Given the description of an element on the screen output the (x, y) to click on. 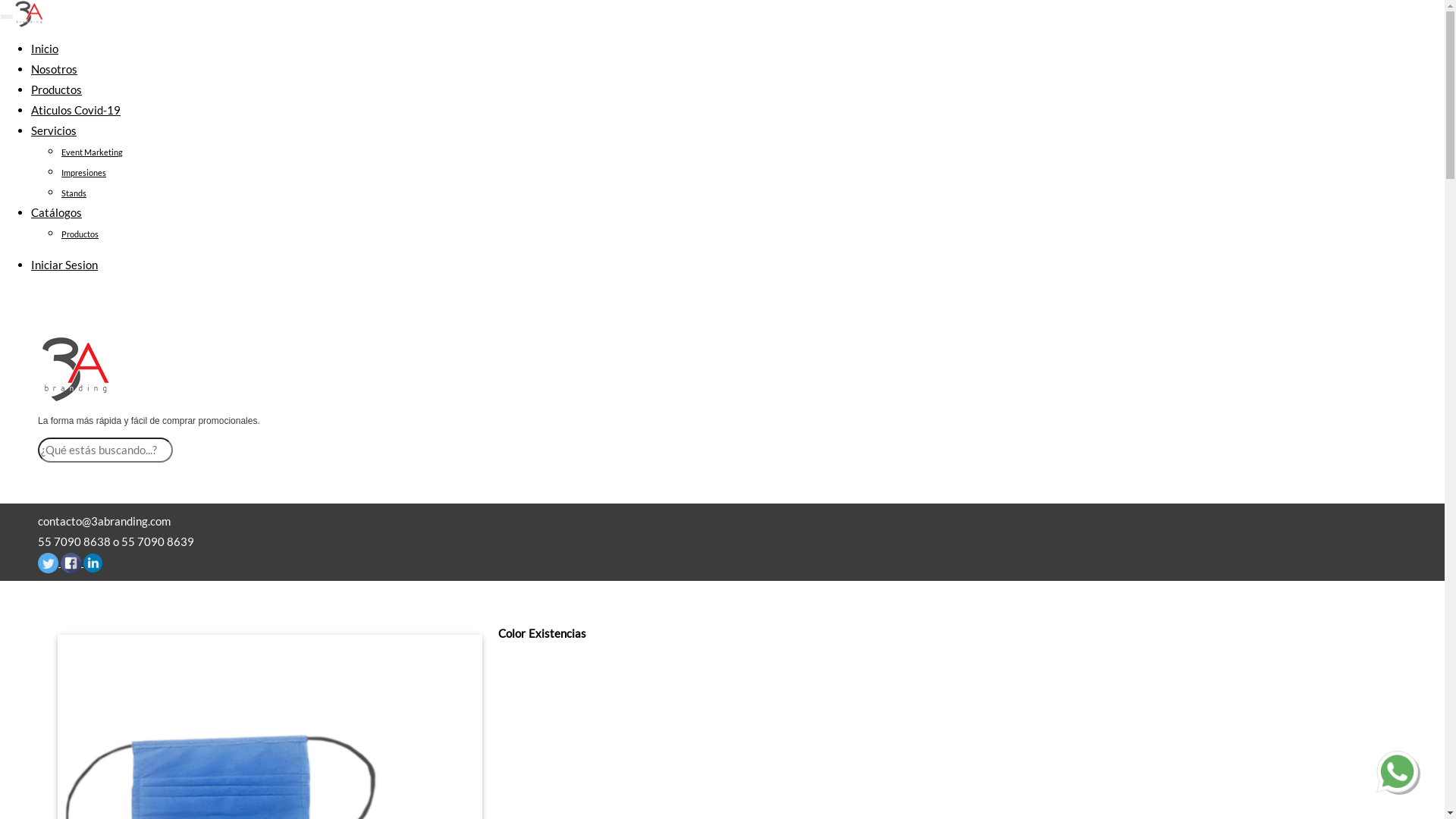
facebokk Element type: hover (70, 562)
Productos Element type: text (56, 89)
Productos Element type: text (79, 233)
insta Element type: hover (92, 562)
Inicio Element type: text (44, 48)
Servicios Element type: text (53, 130)
55 7090 8638 Element type: text (73, 541)
twitter Element type: hover (47, 562)
Event Marketing Element type: text (91, 151)
55 7090 8639 Element type: text (157, 541)
Aticulos Covid-19 Element type: text (75, 109)
Nosotros Element type: text (54, 68)
whatsapp Element type: hover (1397, 771)
Impresiones Element type: text (83, 172)
Iniciar Sesion Element type: text (64, 264)
3a Element type: hover (75, 368)
3a Element type: hover (29, 13)
Stands Element type: text (73, 192)
